Given the description of an element on the screen output the (x, y) to click on. 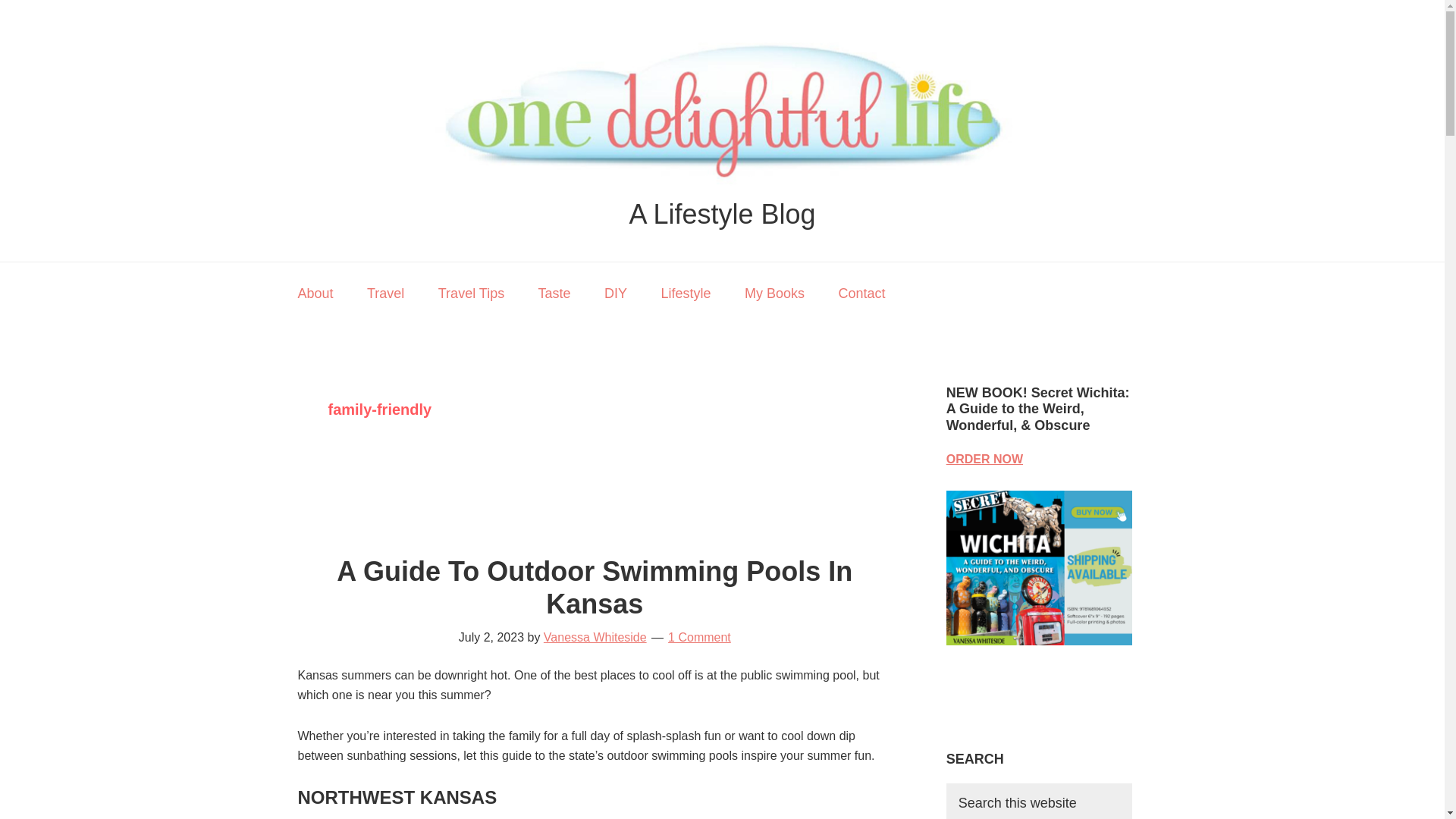
Travel Tips (471, 293)
Taste (554, 293)
Travel (385, 293)
About (314, 293)
